Given the description of an element on the screen output the (x, y) to click on. 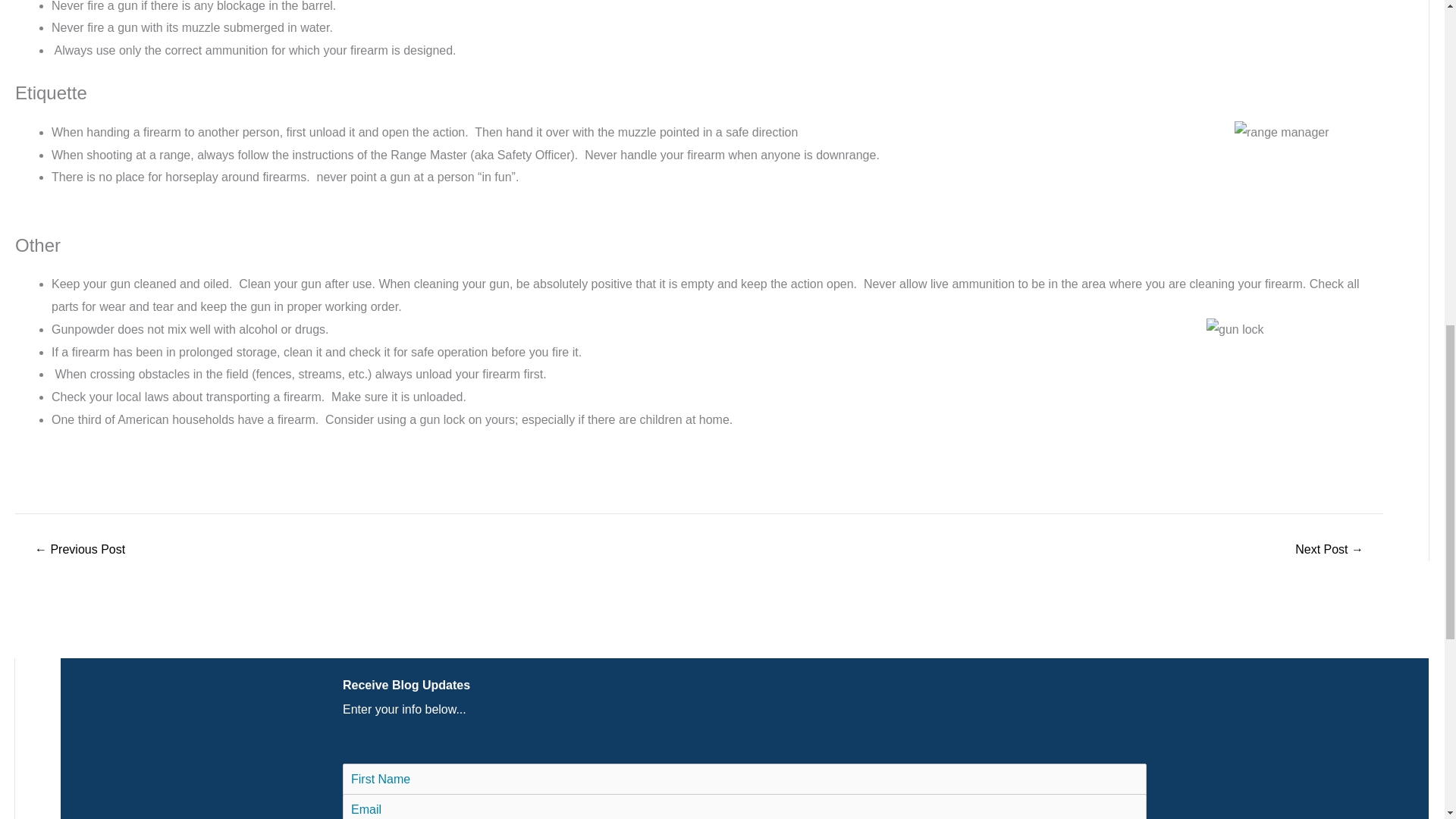
Opioid Addiction Epidemic In America (1328, 549)
Martial Arts For Self Defense (79, 549)
